Given the description of an element on the screen output the (x, y) to click on. 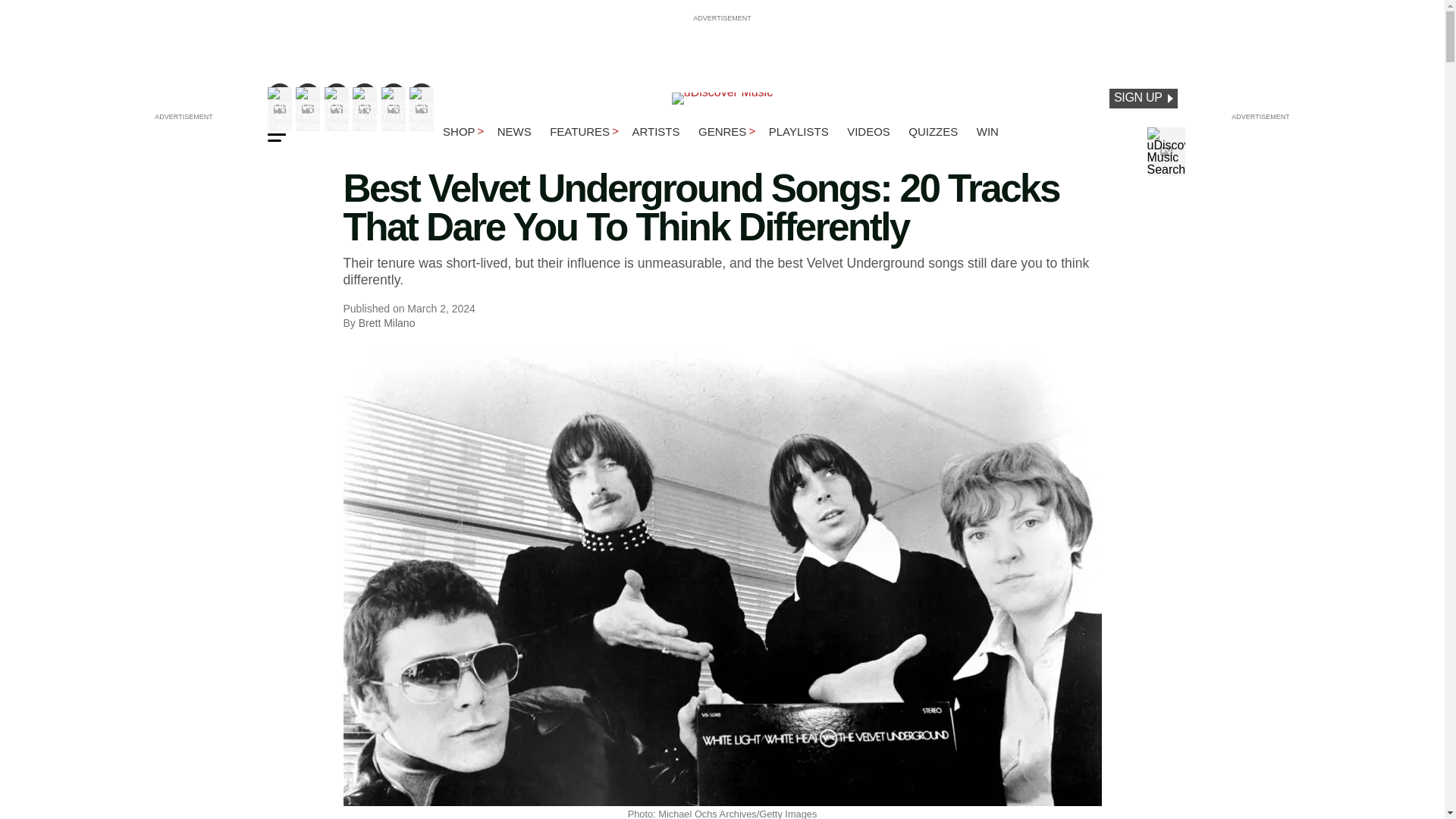
Posts by Brett Milano (386, 322)
